Given the description of an element on the screen output the (x, y) to click on. 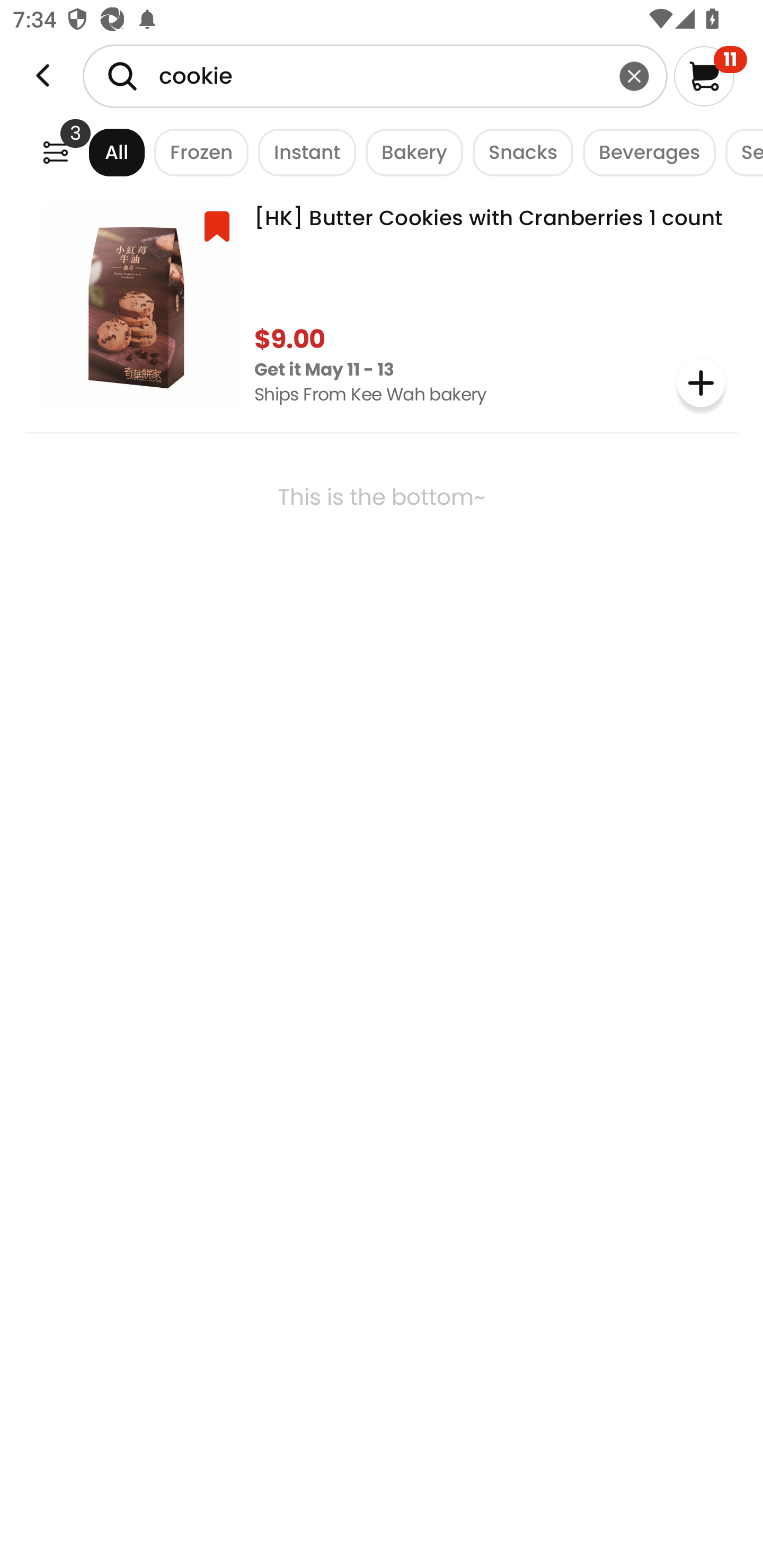
cookie (374, 75)
11 (709, 75)
Weee! (42, 76)
Weee! (55, 151)
All (99, 151)
Frozen (196, 151)
Instant (302, 151)
Bakery (409, 151)
Snacks (518, 151)
Beverages (644, 151)
This is the bottom~ (381, 549)
